Given the description of an element on the screen output the (x, y) to click on. 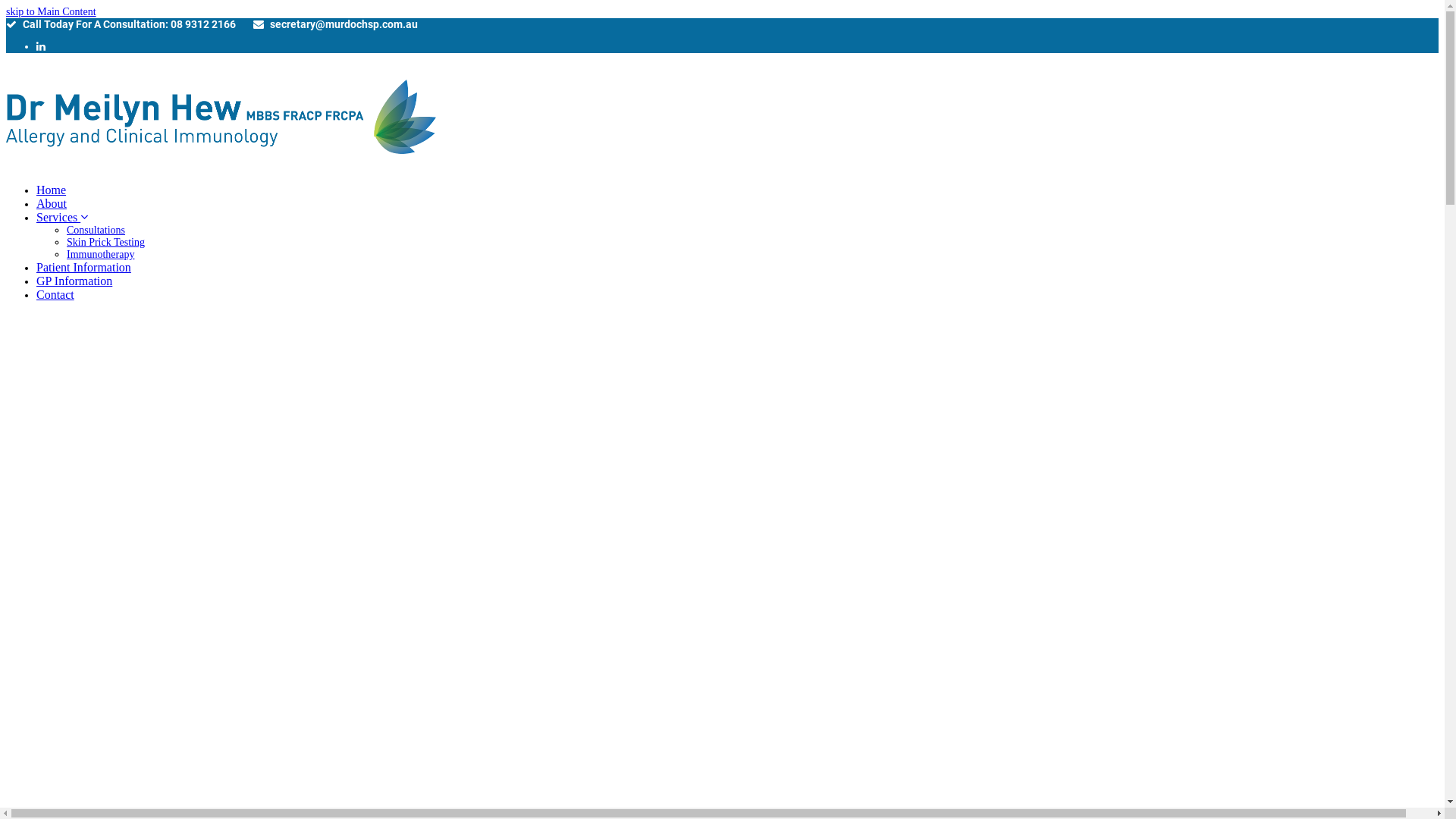
Home Element type: text (50, 190)
About Element type: text (51, 204)
Skin Prick Testing Element type: text (105, 241)
Consultations Element type: text (95, 229)
LinkedIn Element type: text (40, 46)
Immunotherapy Element type: text (100, 254)
GP Information Element type: text (74, 281)
Services Element type: text (61, 217)
skip to Main Content Element type: text (51, 11)
Patient Information Element type: text (83, 267)
Contact Element type: text (55, 295)
